Given the description of an element on the screen output the (x, y) to click on. 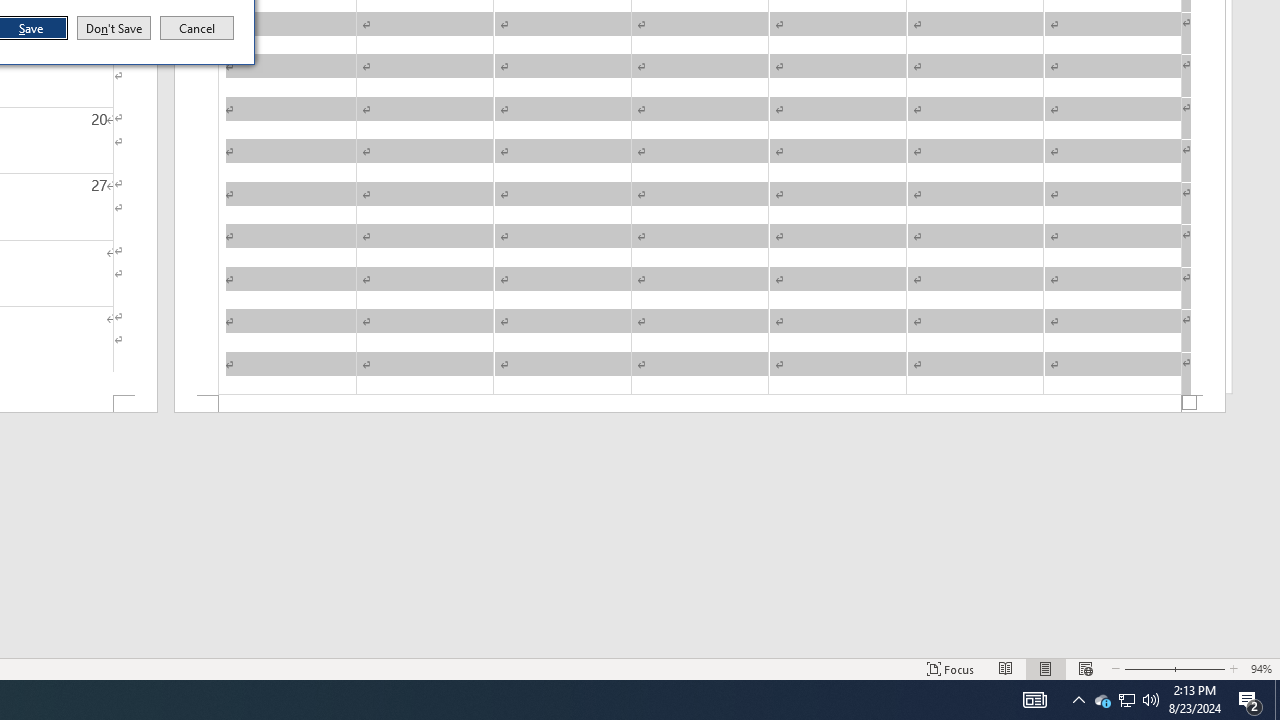
Q2790: 100% (1151, 699)
Footer -Section 1- (700, 404)
Don't Save (113, 27)
AutomationID: 4105 (1034, 699)
Notification Chevron (1078, 699)
Cancel (197, 27)
Show desktop (1277, 699)
